Given the description of an element on the screen output the (x, y) to click on. 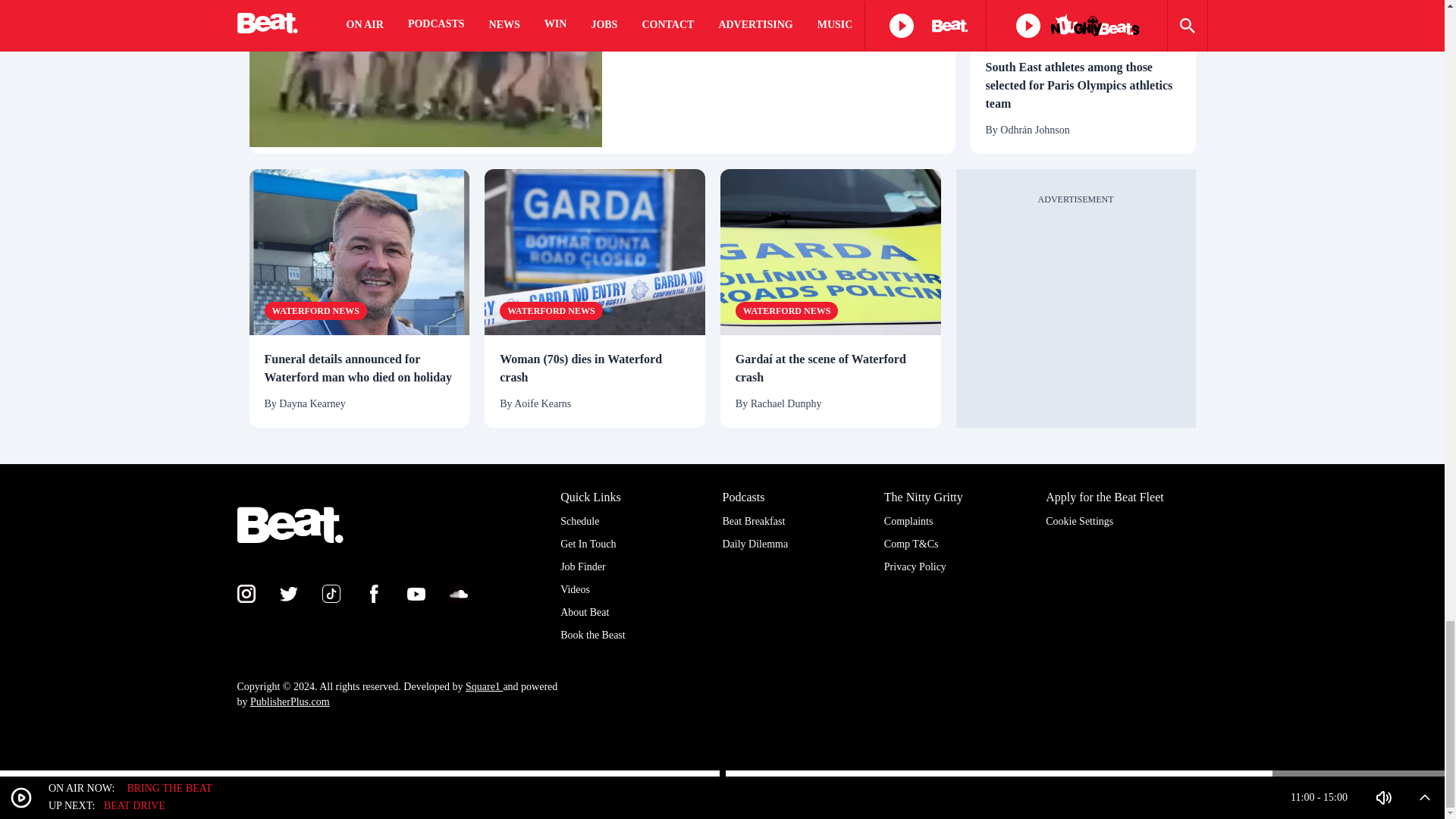
Waterford News (314, 311)
Sport (1007, 18)
